Given the description of an element on the screen output the (x, y) to click on. 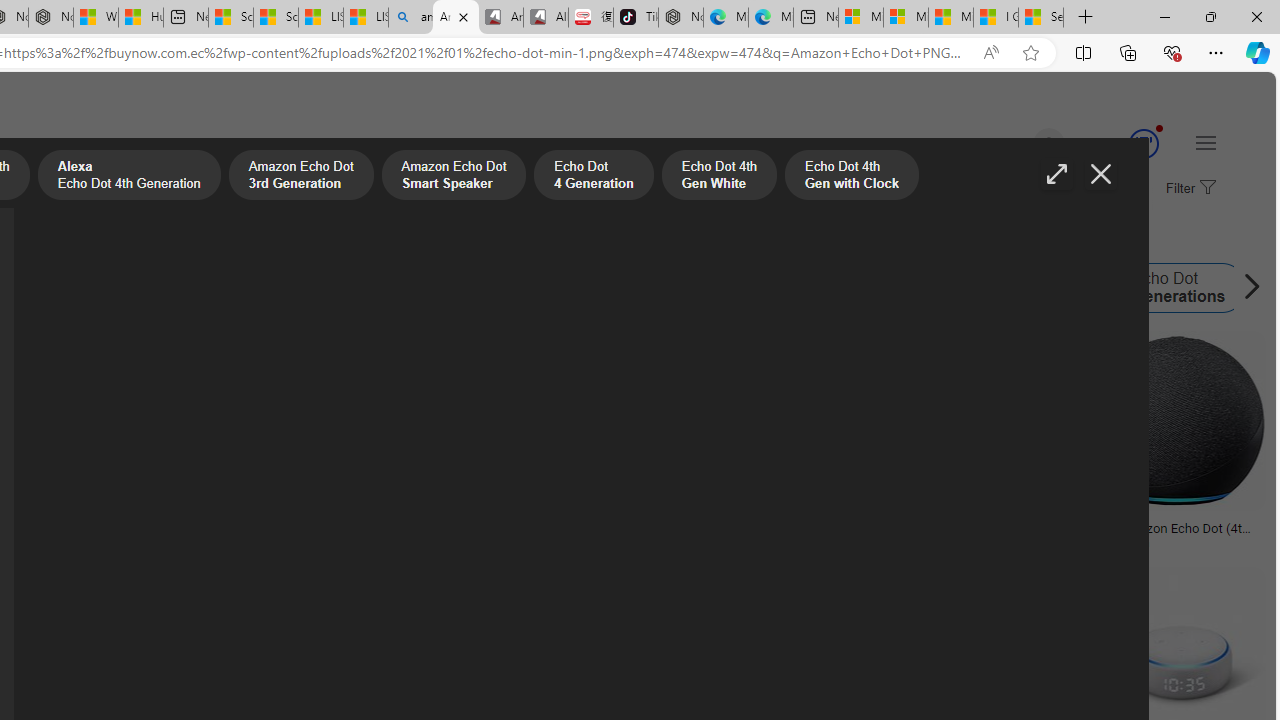
Amazon Echo Dot Png 542 Download (96, 534)
Alexa Echo Png Pic Png Arts Images (976, 534)
Image result for Amazon Echo Dot PNG (1175, 421)
Amazon Echo Spot (770, 287)
tpsearchtool.com (930, 541)
Amazon Echo Spot (708, 287)
pngkey.com (589, 542)
Alexa Echo Png Pic Png Arts Imagestpsearchtool.comSave (347, 444)
Amazon Echo Dot PNG - Search Images (455, 17)
Amazon Echo Dot Logo (314, 287)
Amazon Echo Dot Logo (390, 287)
Image result for Amazon Echo Dot PNG (1175, 421)
Settings and quick links (1205, 142)
